Given the description of an element on the screen output the (x, y) to click on. 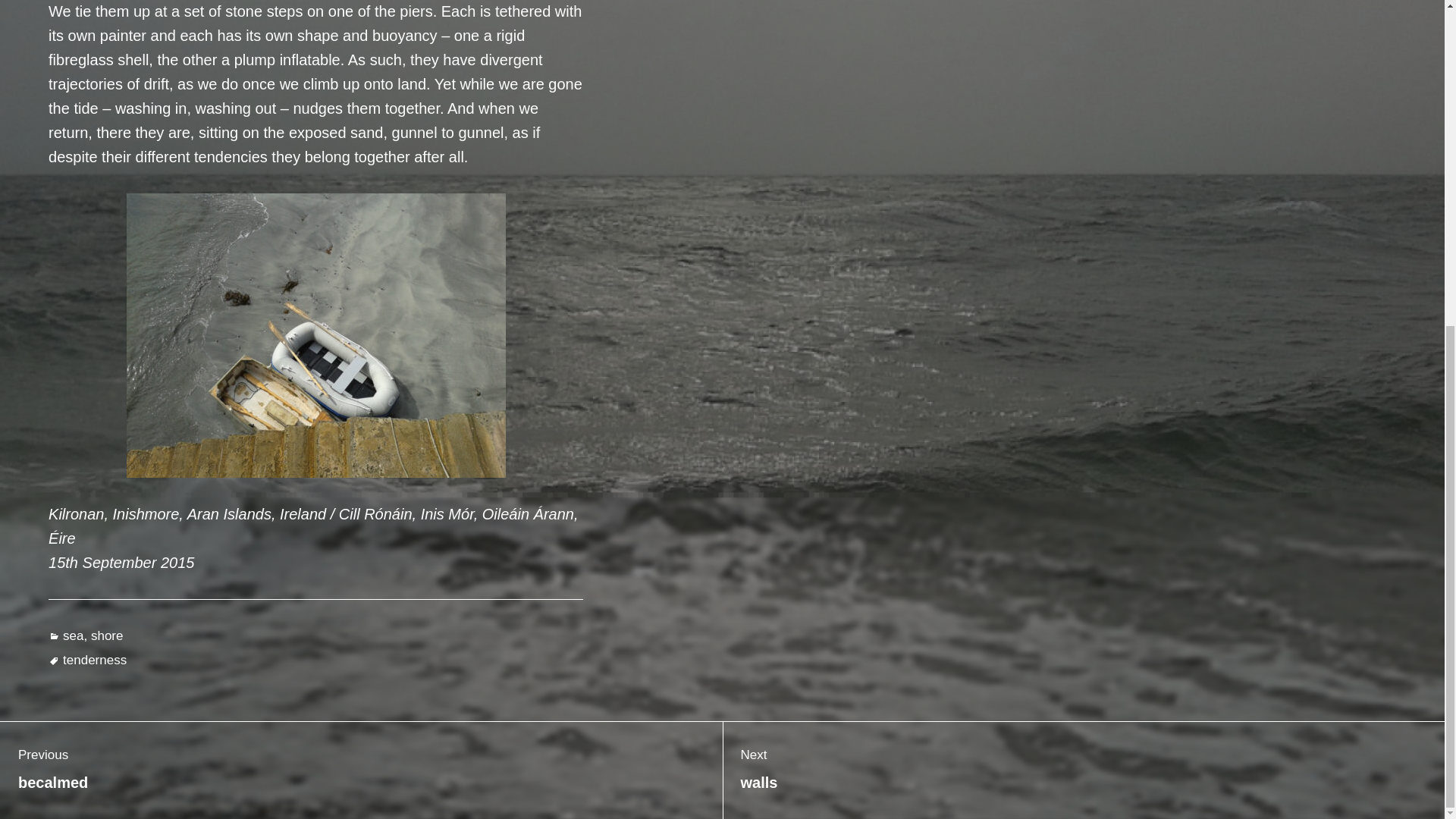
shore (106, 635)
sea (72, 635)
tenderness (94, 659)
